Given the description of an element on the screen output the (x, y) to click on. 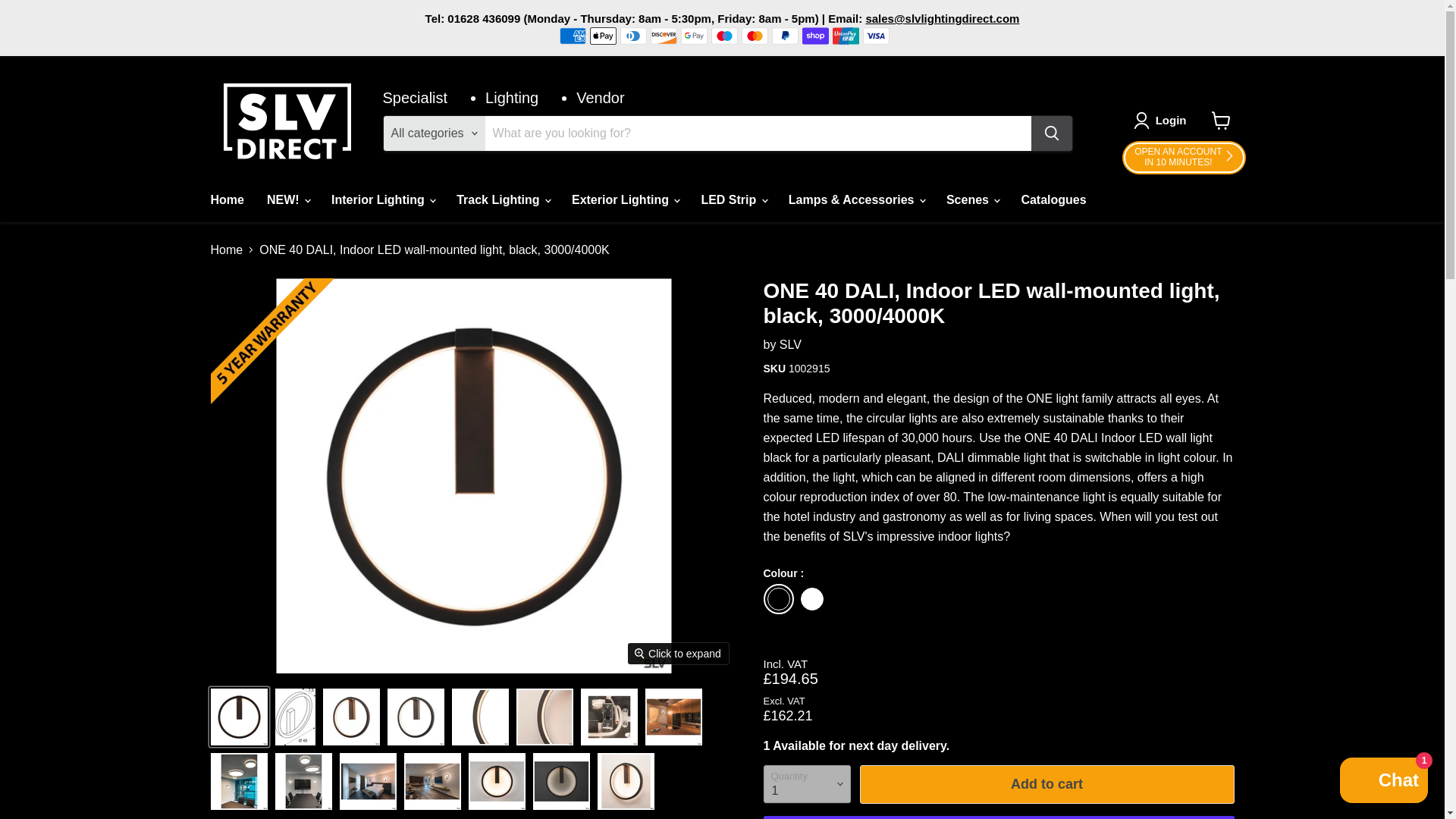
Google Pay (694, 35)
Home (226, 199)
Discover (663, 35)
Login (1171, 120)
PayPal (784, 35)
Mastercard (754, 35)
Visa (876, 35)
Diners Club (633, 35)
Union Pay (845, 35)
Apple Pay (1183, 157)
SLV (602, 35)
American Express (790, 344)
Shopify online store chat (572, 35)
Maestro (1383, 781)
